Given the description of an element on the screen output the (x, y) to click on. 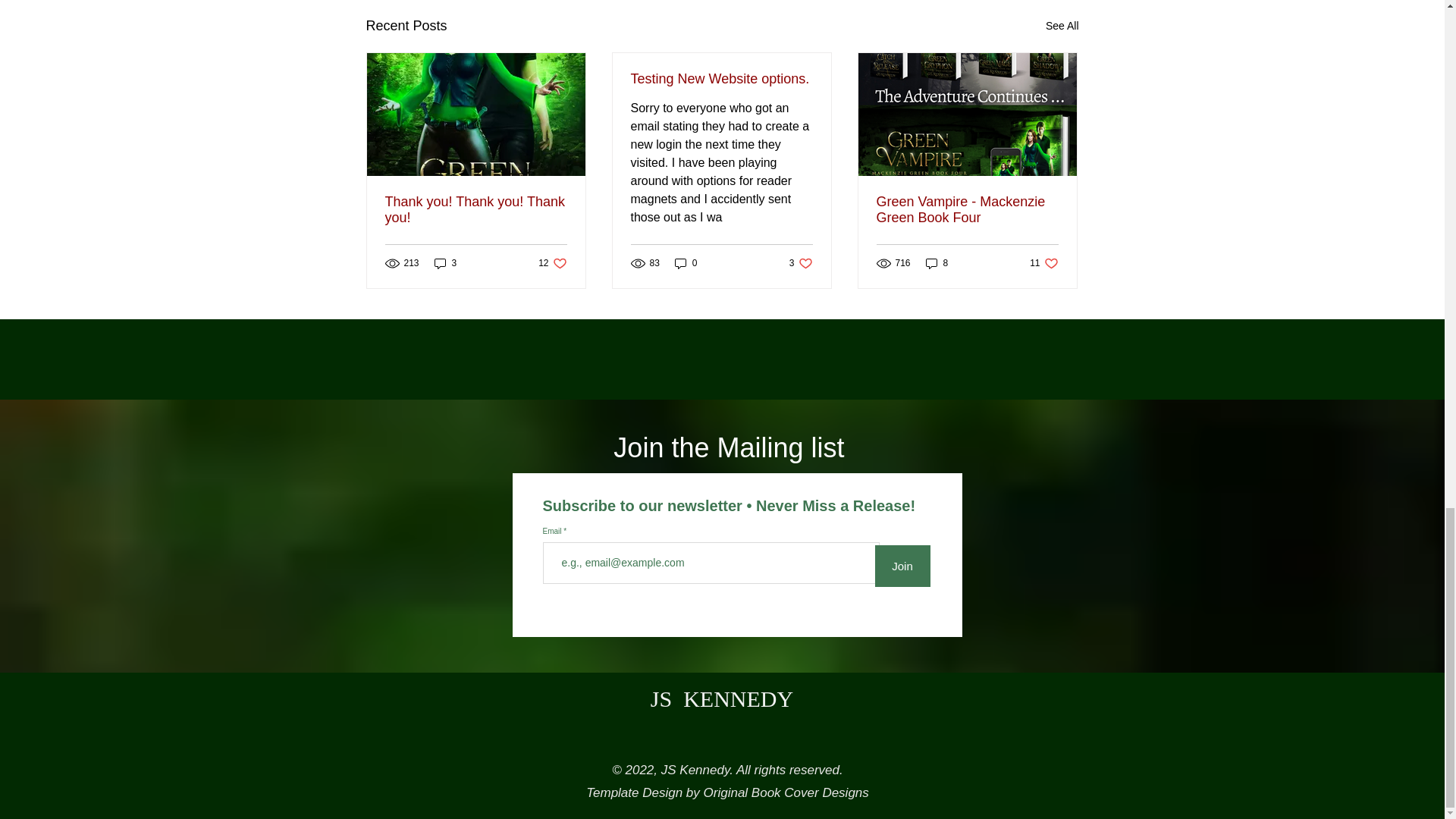
Join (902, 566)
Green Vampire - Mackenzie Green Book Four (1043, 263)
See All (800, 263)
Testing New Website options. (967, 210)
3 (1061, 25)
8 (721, 78)
JS  KENNEDY (445, 263)
0 (937, 263)
